Given the description of an element on the screen output the (x, y) to click on. 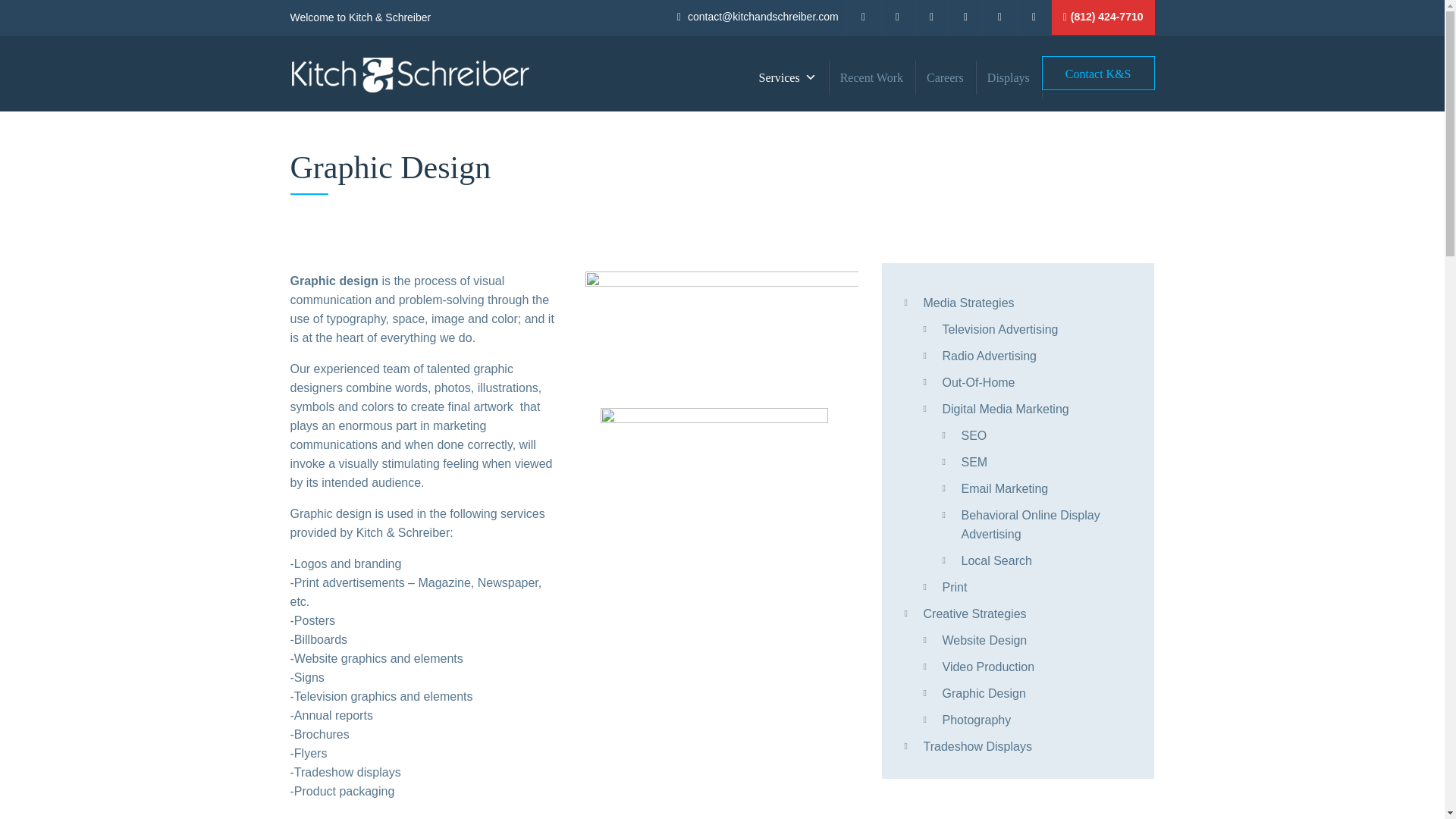
Displays (1008, 77)
linkedin (932, 17)
instagram (1034, 17)
Recent Work (871, 77)
google-plus (966, 17)
email (758, 17)
facebook (863, 17)
phone (1102, 17)
Services (786, 77)
twitter (897, 17)
